Given the description of an element on the screen output the (x, y) to click on. 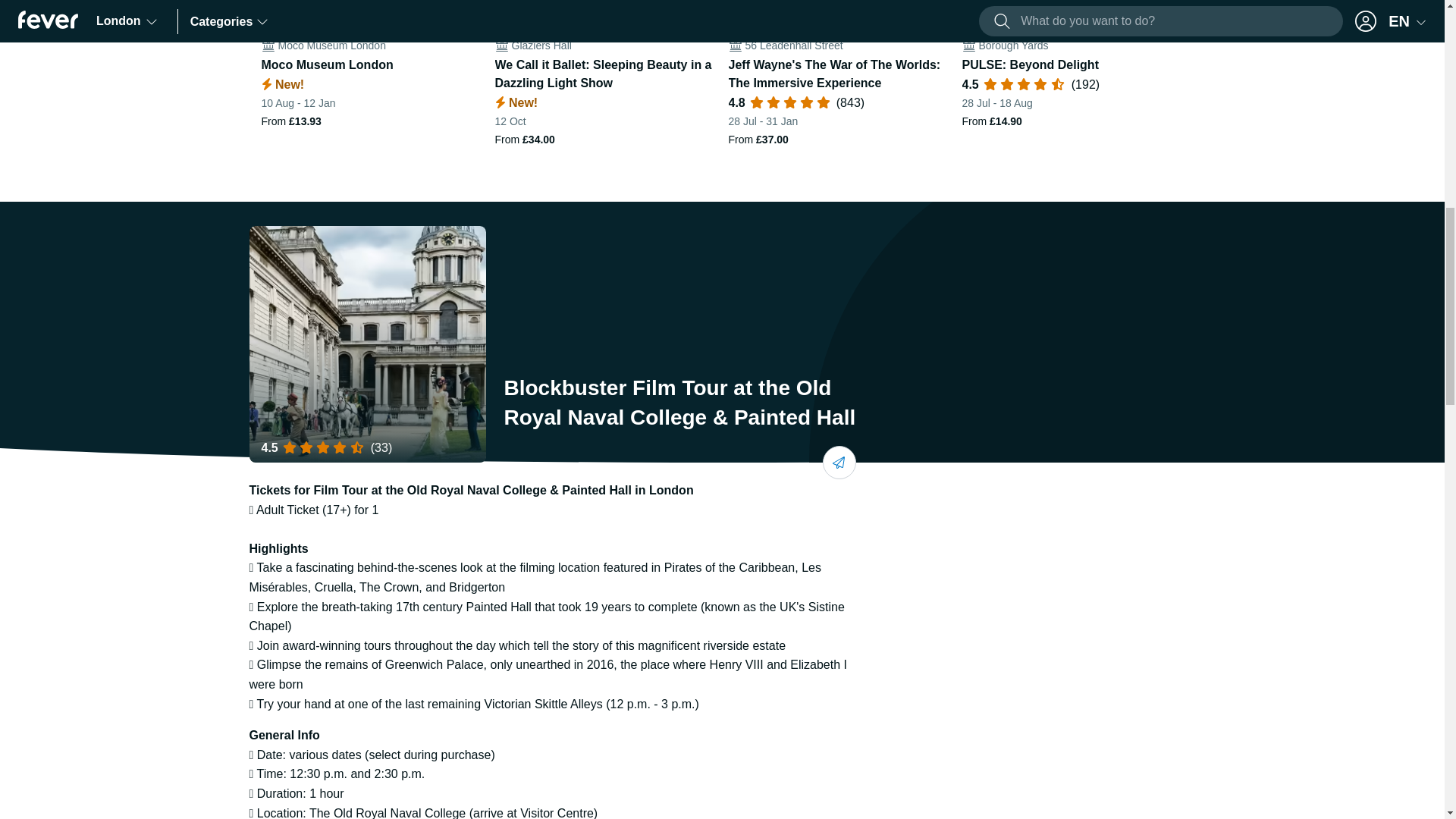
PULSE: Beyond Delight - Borough Yards (1071, 73)
Moco Museum London - Moco Museum London (370, 73)
